Given the description of an element on the screen output the (x, y) to click on. 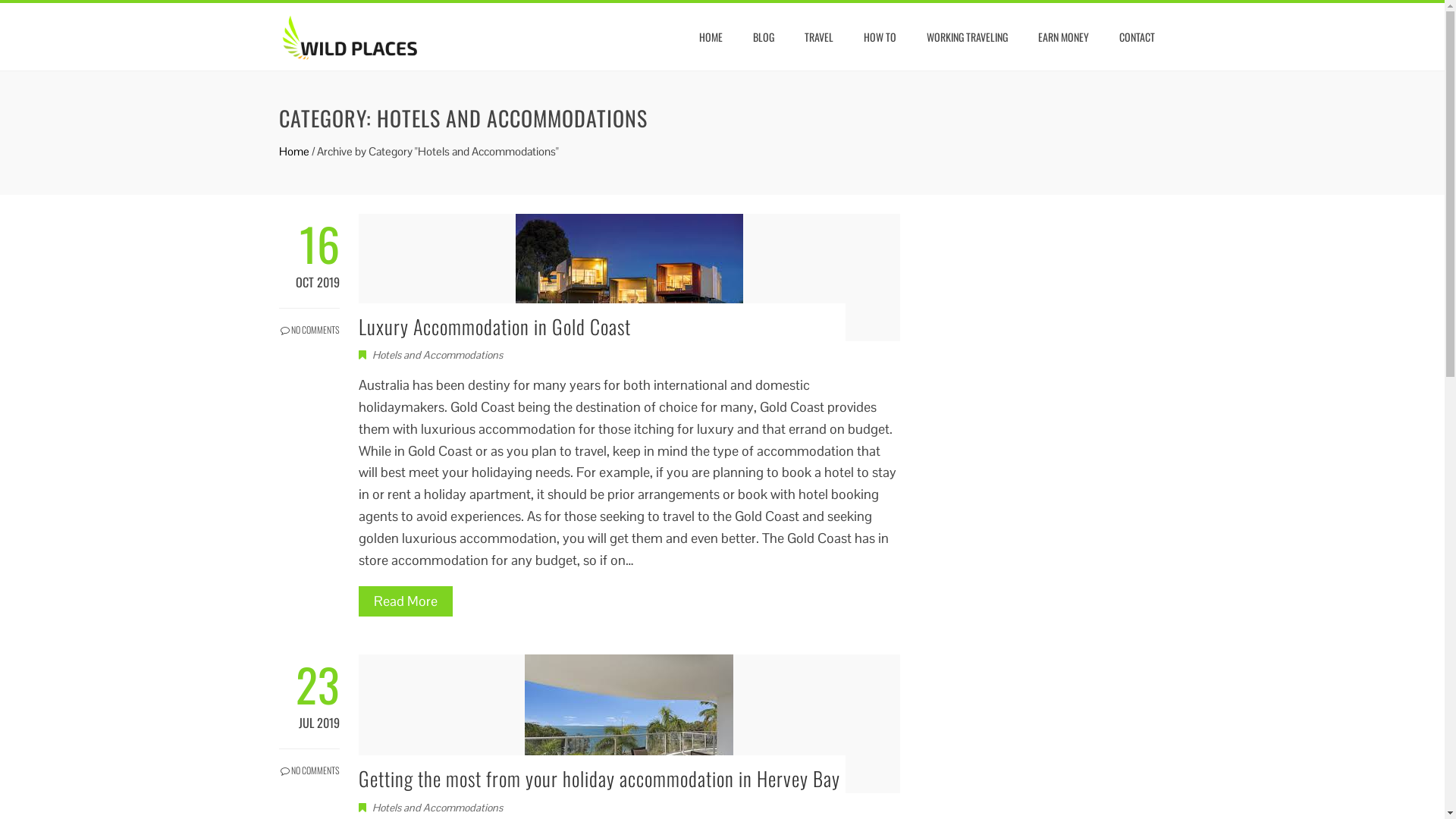
Hotels and Accommodations Element type: text (436, 354)
NO COMMENTS Element type: text (309, 321)
Home Element type: text (294, 151)
Luxury Accommodation in Gold Coast Element type: text (493, 326)
HOME Element type: text (710, 36)
EARN MONEY Element type: text (1063, 36)
NO COMMENTS Element type: text (309, 762)
BLOG Element type: text (763, 36)
TRAVEL Element type: text (818, 36)
Read More Element type: text (404, 601)
Hotels and Accommodations Element type: text (436, 807)
HOW TO Element type: text (879, 36)
CONTACT Element type: text (1136, 36)
WORKING TRAVELING Element type: text (966, 36)
